Given the description of an element on the screen output the (x, y) to click on. 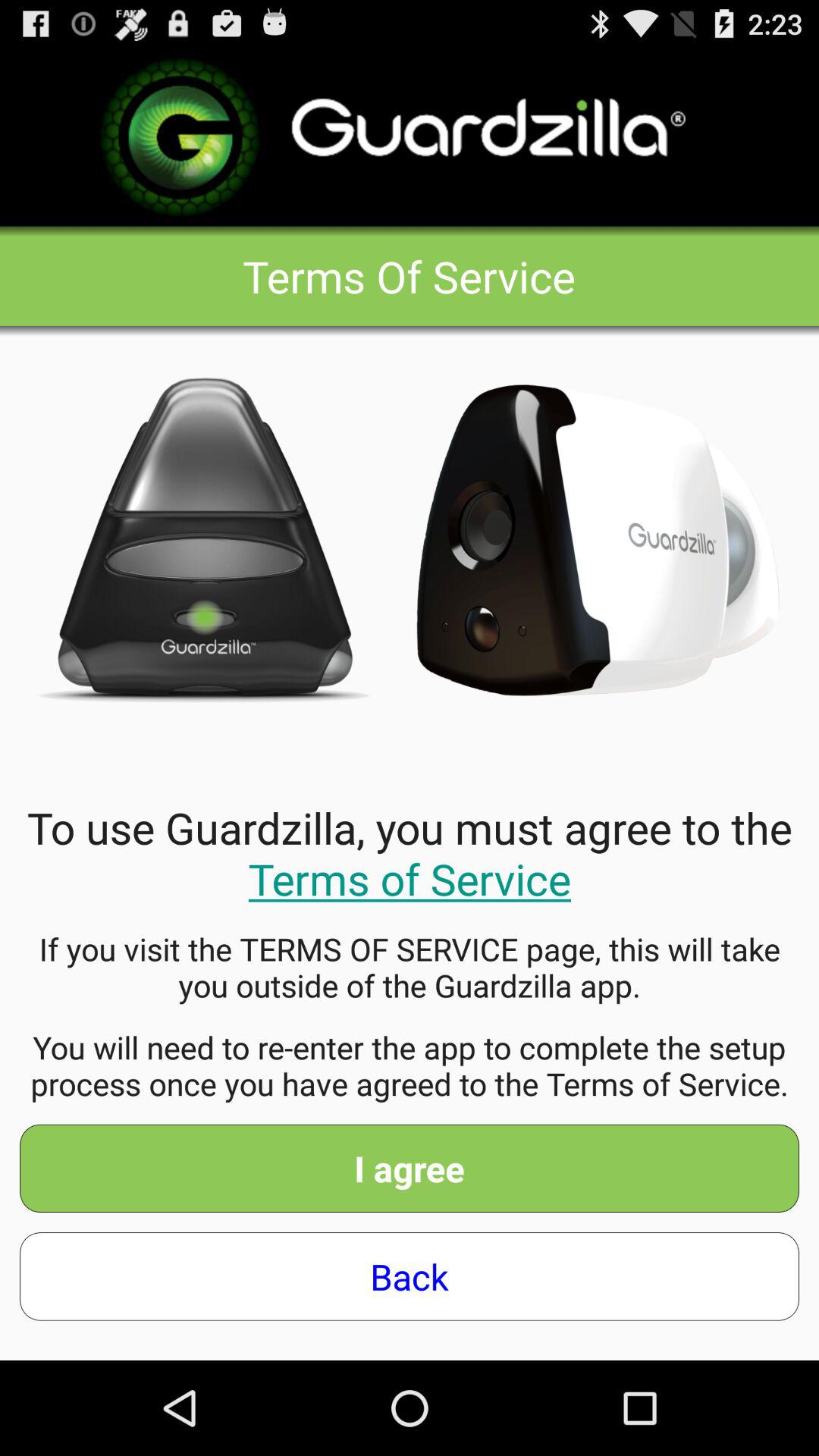
click the item above back icon (409, 1168)
